Given the description of an element on the screen output the (x, y) to click on. 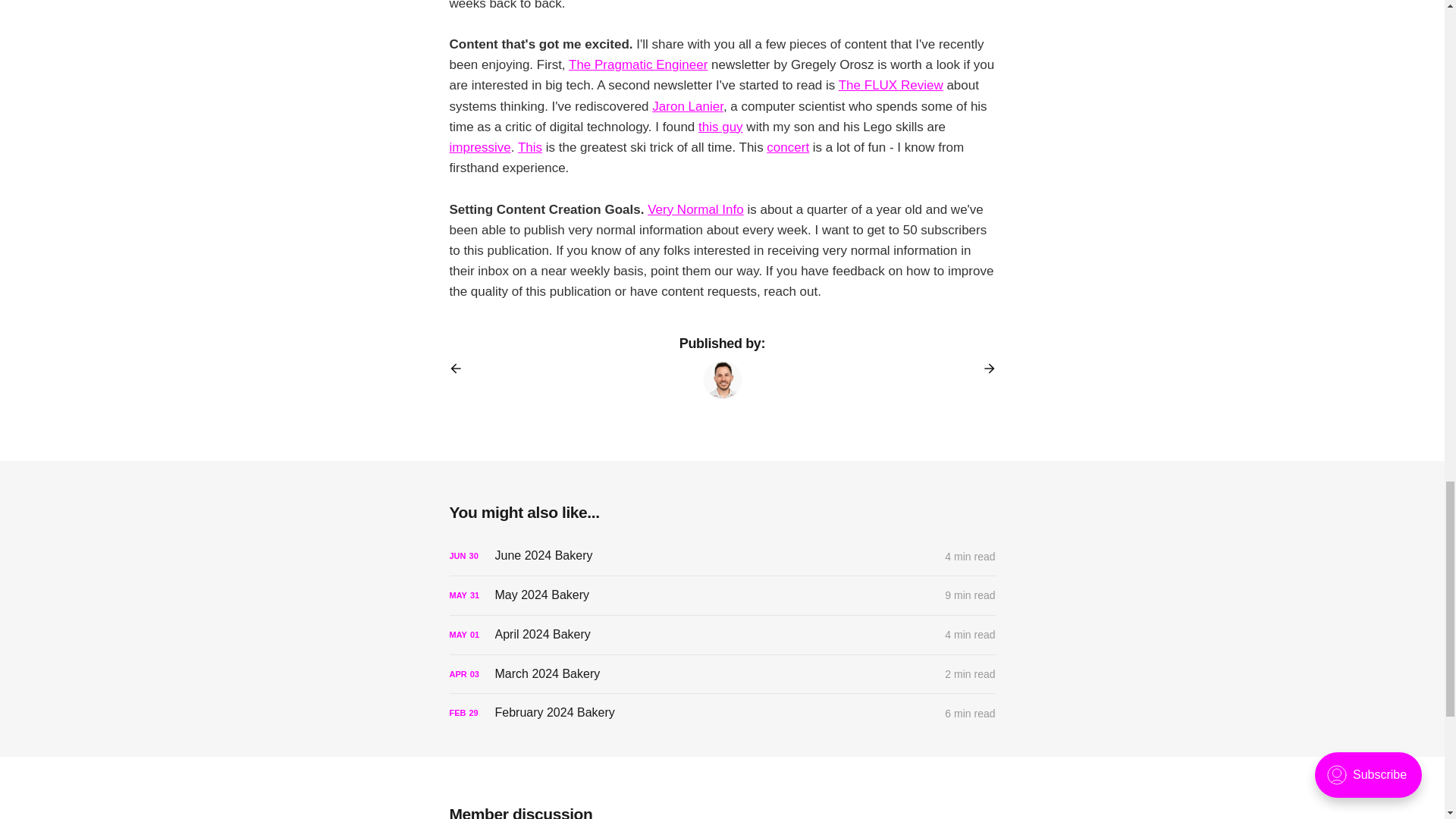
Very Normal Info (695, 208)
The FLUX Review (890, 84)
concert (788, 147)
impressive (479, 147)
Jaron Lanier (687, 106)
this guy (720, 126)
This (529, 147)
The Pragmatic Engineer (638, 64)
